Given the description of an element on the screen output the (x, y) to click on. 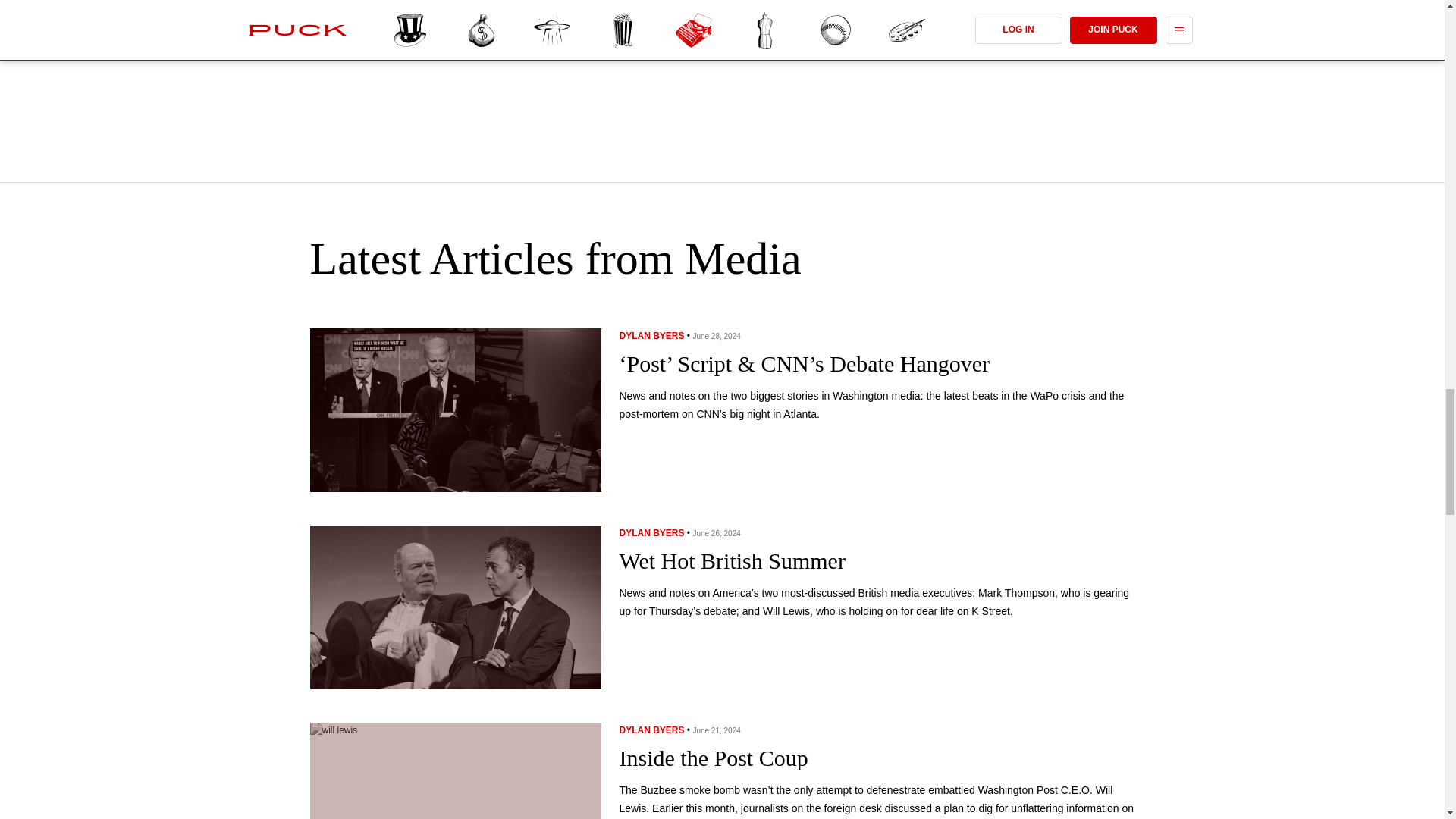
3rd party ad content (722, 83)
